Given the description of an element on the screen output the (x, y) to click on. 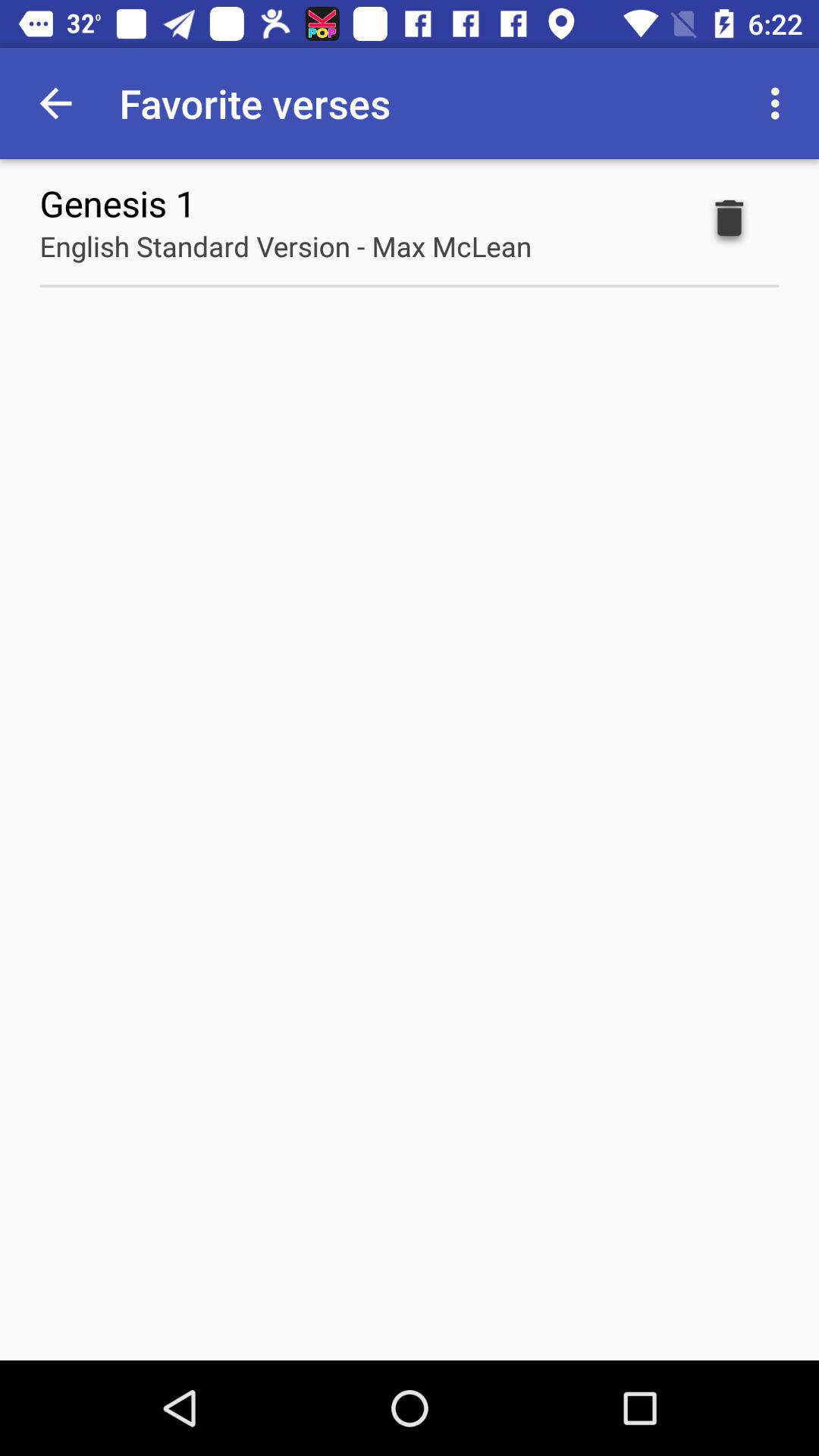
select the icon to the right of english standard version icon (729, 222)
